Given the description of an element on the screen output the (x, y) to click on. 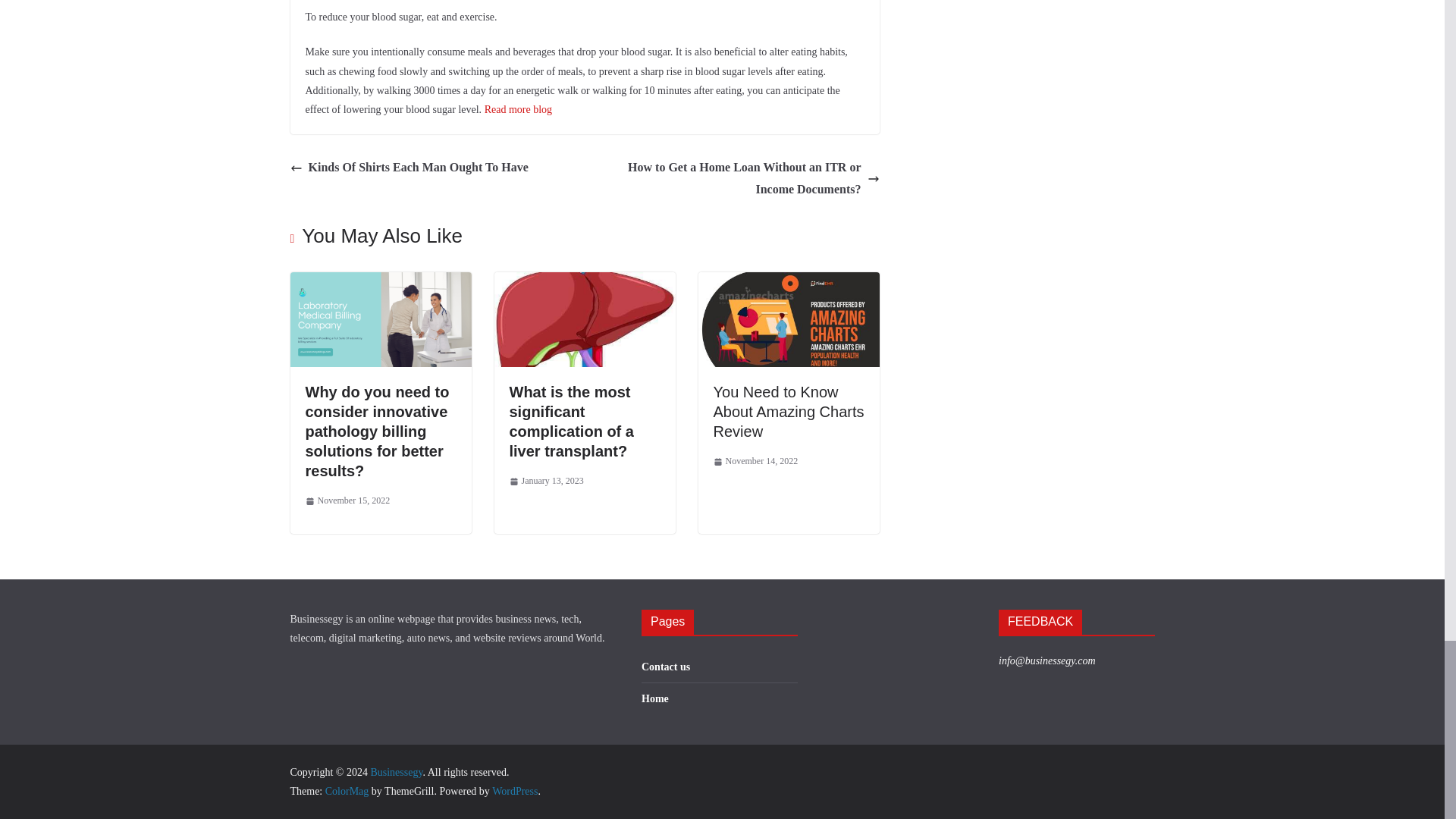
November 14, 2022 (755, 461)
Kinds Of Shirts Each Man Ought To Have (408, 168)
January 13, 2023 (546, 481)
You Need to Know About Amazing Charts Review (788, 411)
How to Get a Home Loan Without an ITR or Income Documents? (735, 178)
November 15, 2022 (347, 501)
5:22 pm (347, 501)
